Given the description of an element on the screen output the (x, y) to click on. 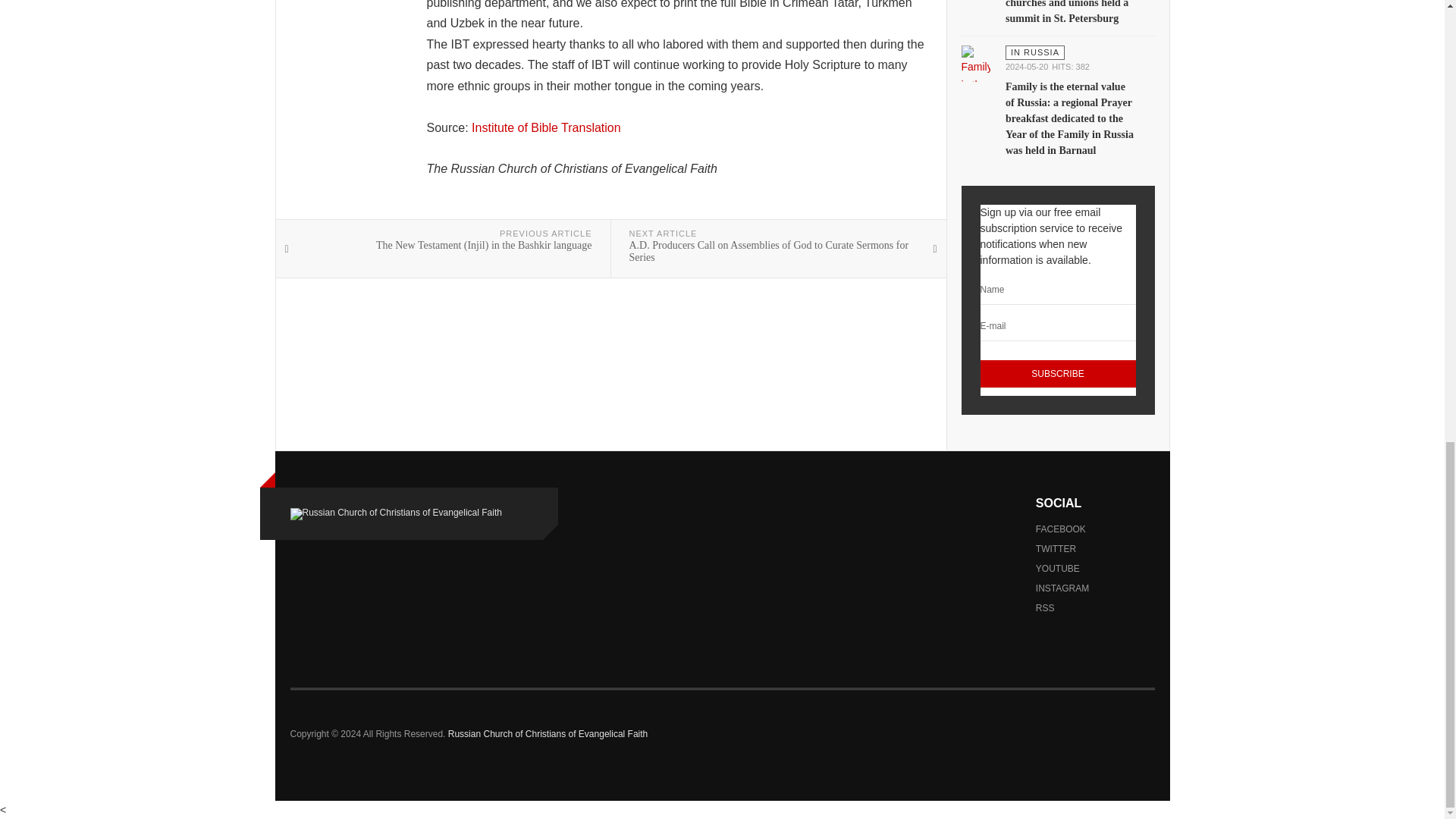
Name (1057, 290)
Subscribe (1057, 374)
E-mail (1057, 326)
